Given the description of an element on the screen output the (x, y) to click on. 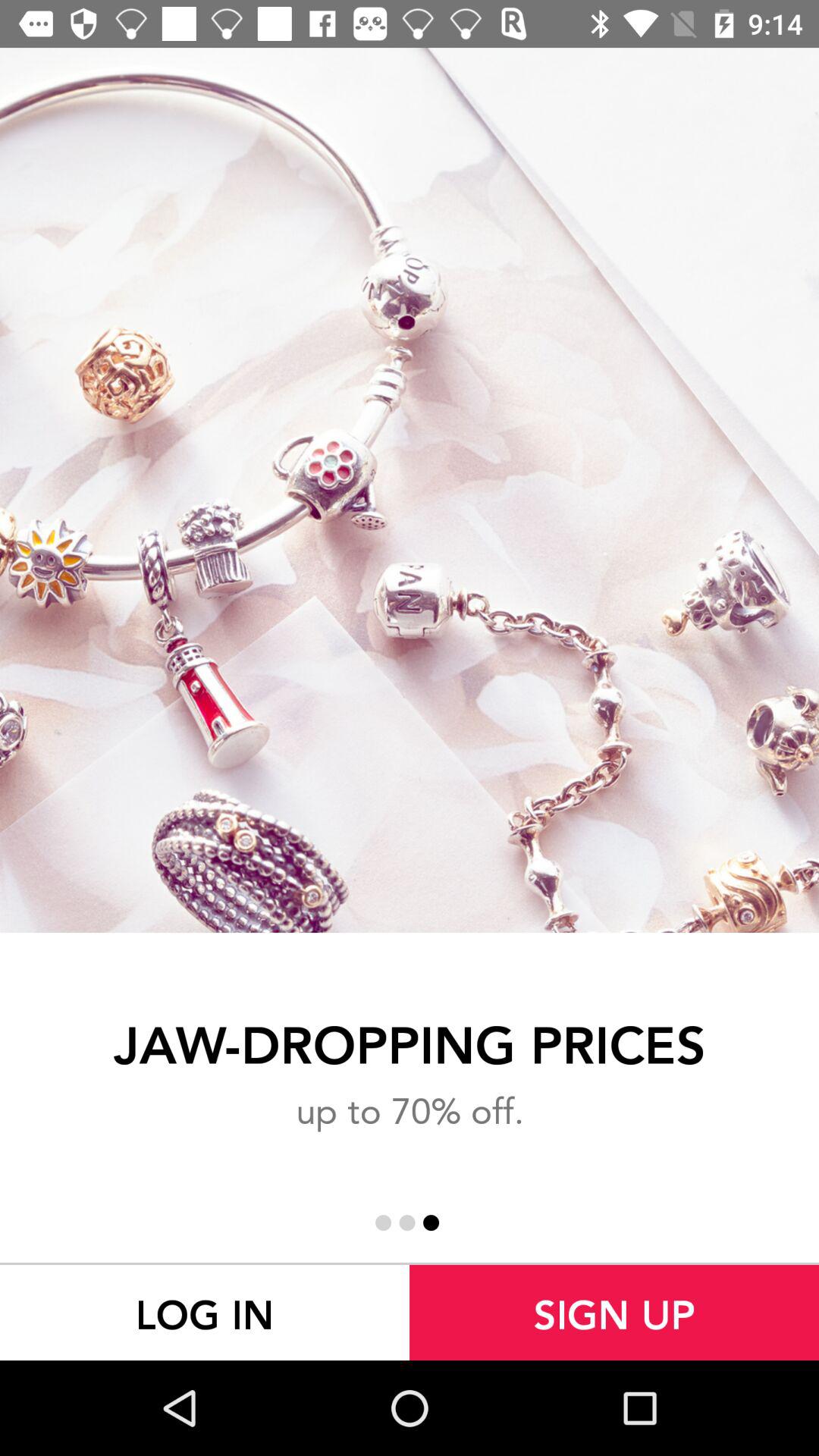
turn on item to the left of sign up item (204, 1312)
